Given the description of an element on the screen output the (x, y) to click on. 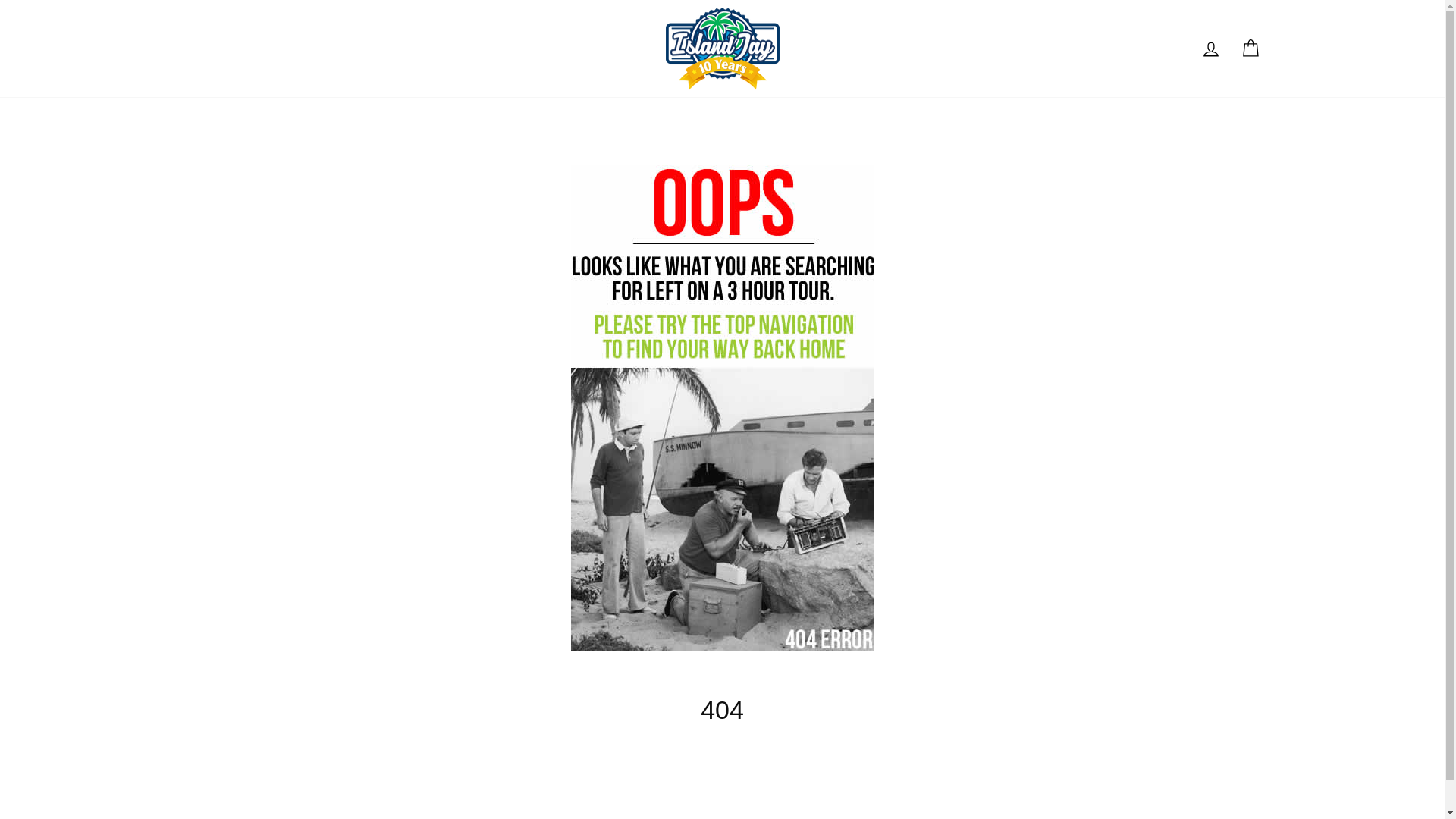
Cart (1249, 47)
account (1210, 48)
